Given the description of an element on the screen output the (x, y) to click on. 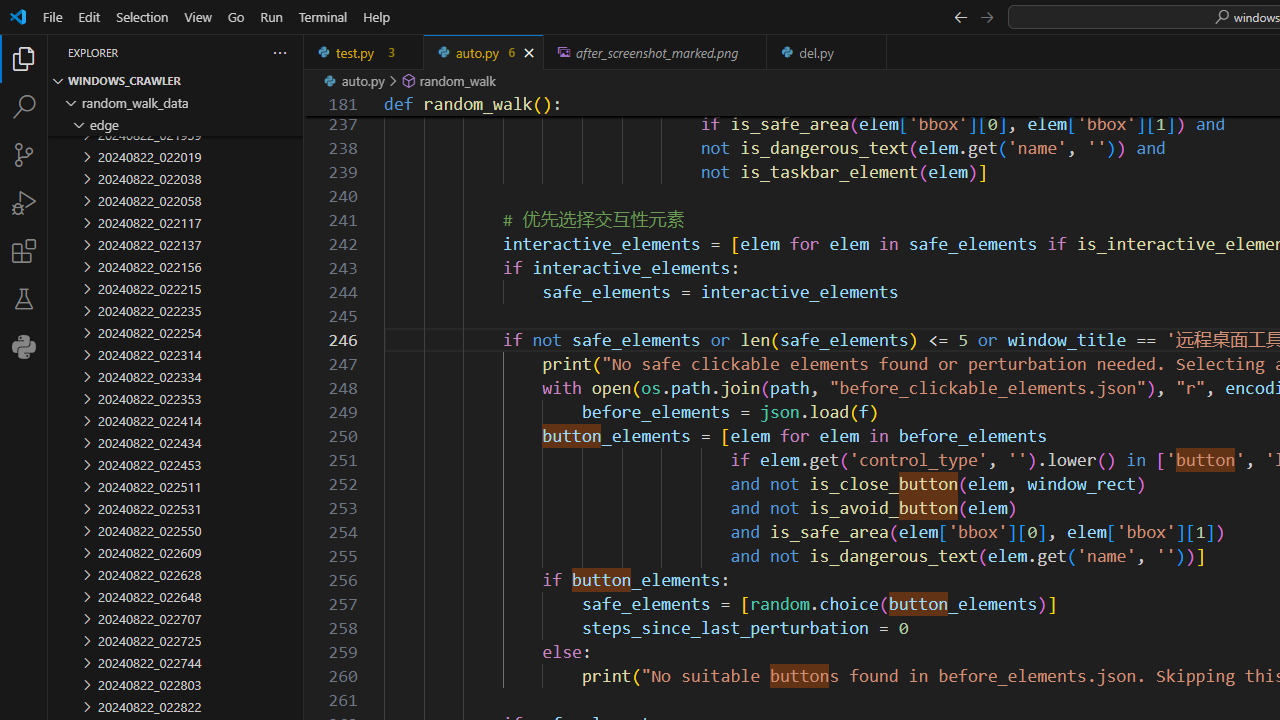
Views and More Actions... (279, 52)
Selection (141, 16)
Search (Ctrl+Shift+F) (24, 106)
Run (271, 16)
after_screenshot_marked.png, preview (656, 52)
Testing (24, 299)
File (52, 16)
Tab actions (872, 52)
Run and Debug (Ctrl+Shift+D) (24, 202)
Go Forward (Alt+RightArrow) (986, 16)
Go Back (Alt+LeftArrow) (960, 16)
Source Control (Ctrl+Shift+G) (24, 155)
Explorer (Ctrl+Shift+E) (24, 58)
auto.py (483, 52)
